Given the description of an element on the screen output the (x, y) to click on. 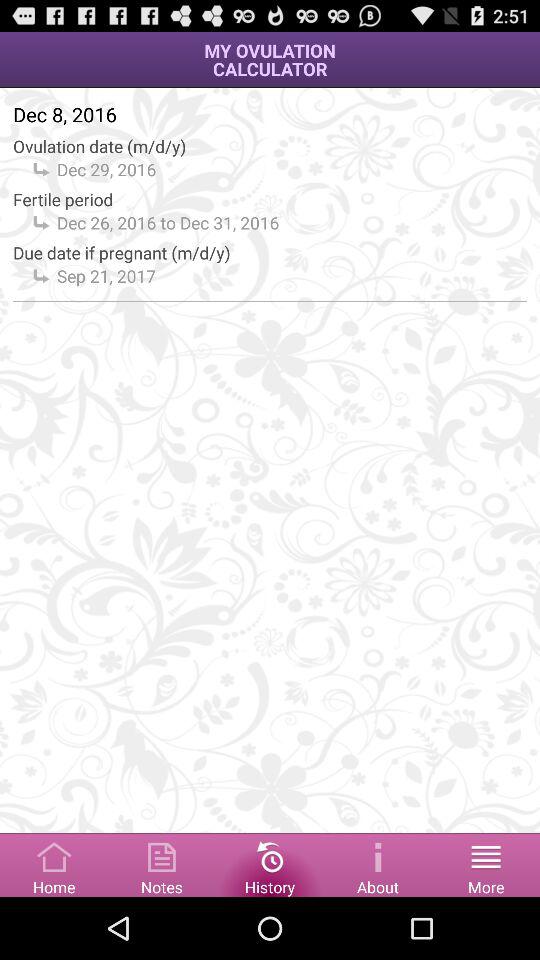
go to history option (270, 864)
